Given the description of an element on the screen output the (x, y) to click on. 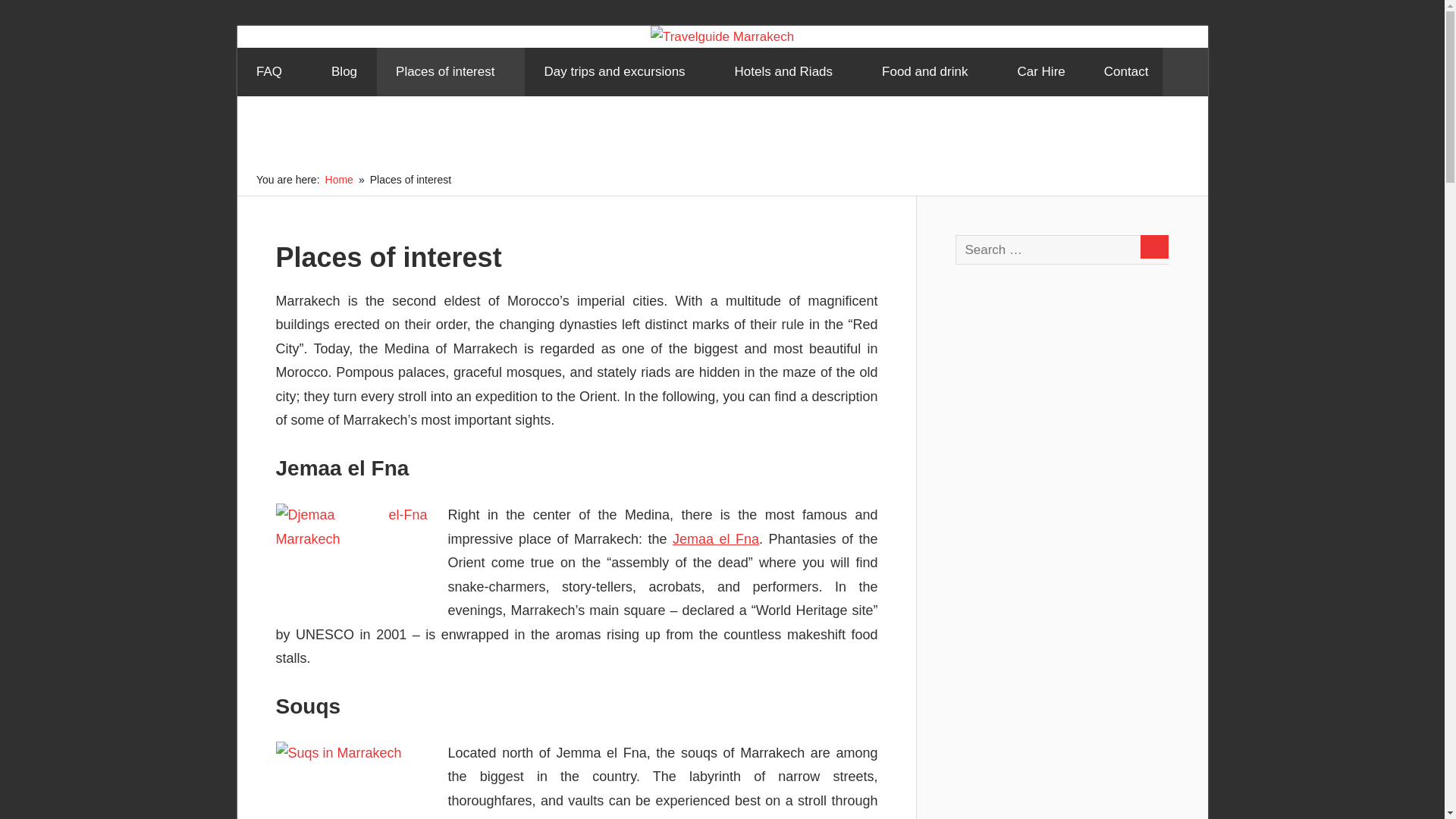
Day trips and excursions (619, 71)
FAQ (273, 71)
Blog (345, 71)
Places of interest (450, 71)
Search for: (1068, 249)
